Given the description of an element on the screen output the (x, y) to click on. 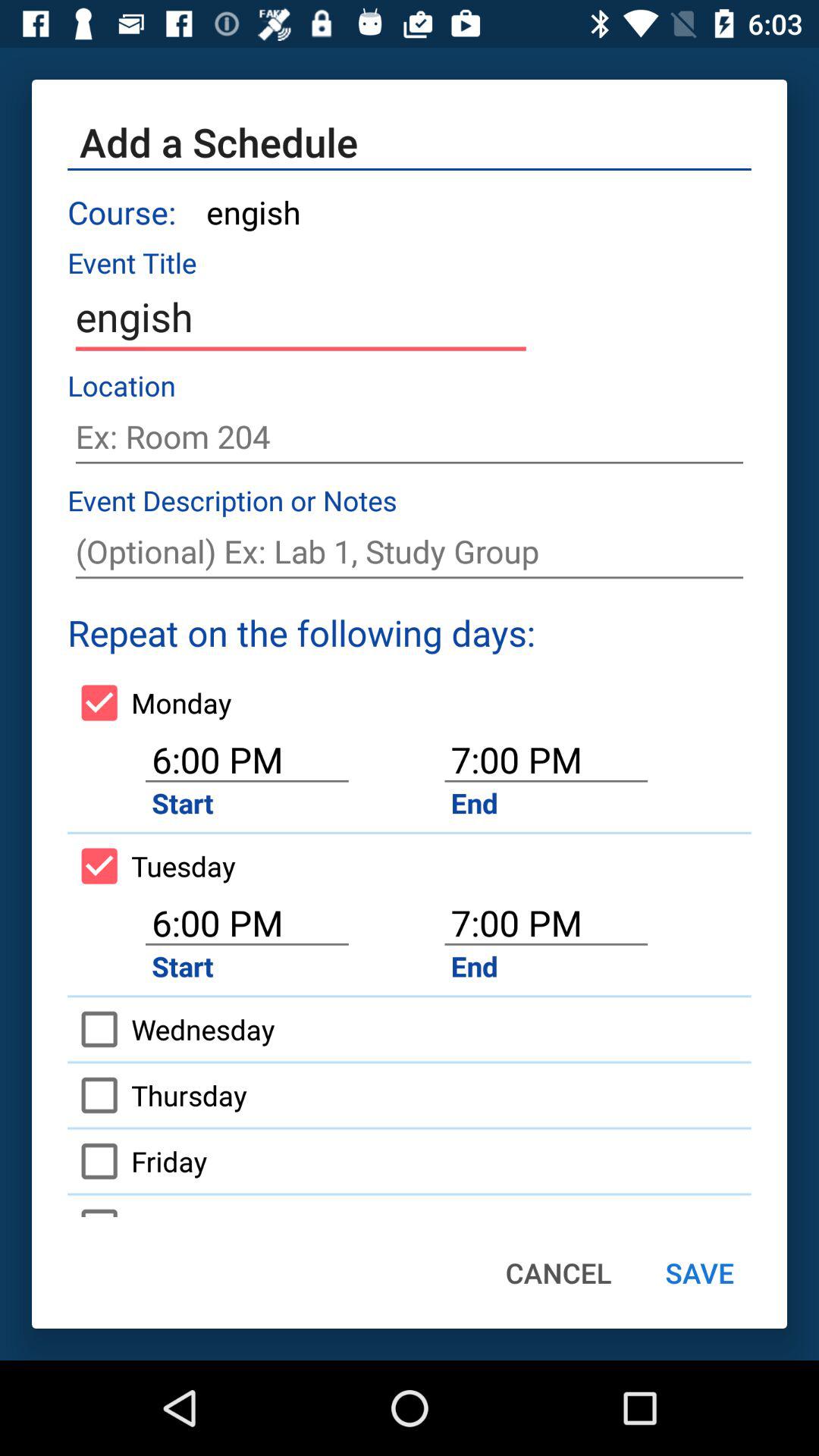
turn on icon to the left of the cancel icon (154, 1206)
